Given the description of an element on the screen output the (x, y) to click on. 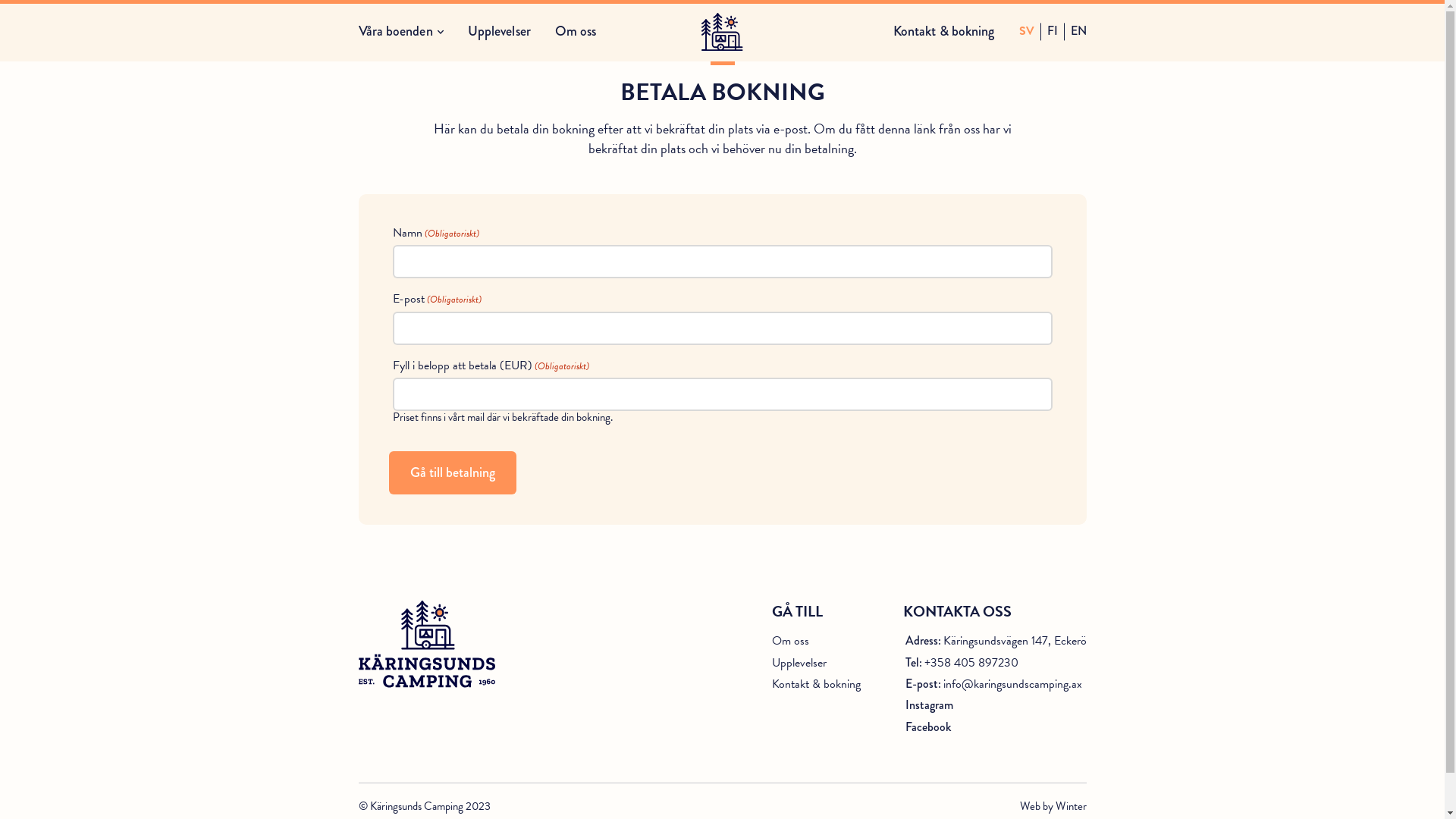
Kontakt & bokning Element type: text (815, 683)
Facebook Element type: text (927, 726)
+358 405 897230 Element type: text (970, 662)
Kontakt & bokning Element type: text (943, 30)
Web by Winter Element type: text (1052, 806)
EN Element type: text (1078, 31)
Instagram Element type: text (929, 704)
info@karingsundscamping.ax Element type: text (1012, 683)
Upplevelser Element type: text (798, 662)
Upplevelser Element type: text (498, 30)
FI Element type: text (1051, 31)
SV Element type: text (1026, 31)
Om oss Element type: text (575, 30)
Om oss Element type: text (790, 640)
